Given the description of an element on the screen output the (x, y) to click on. 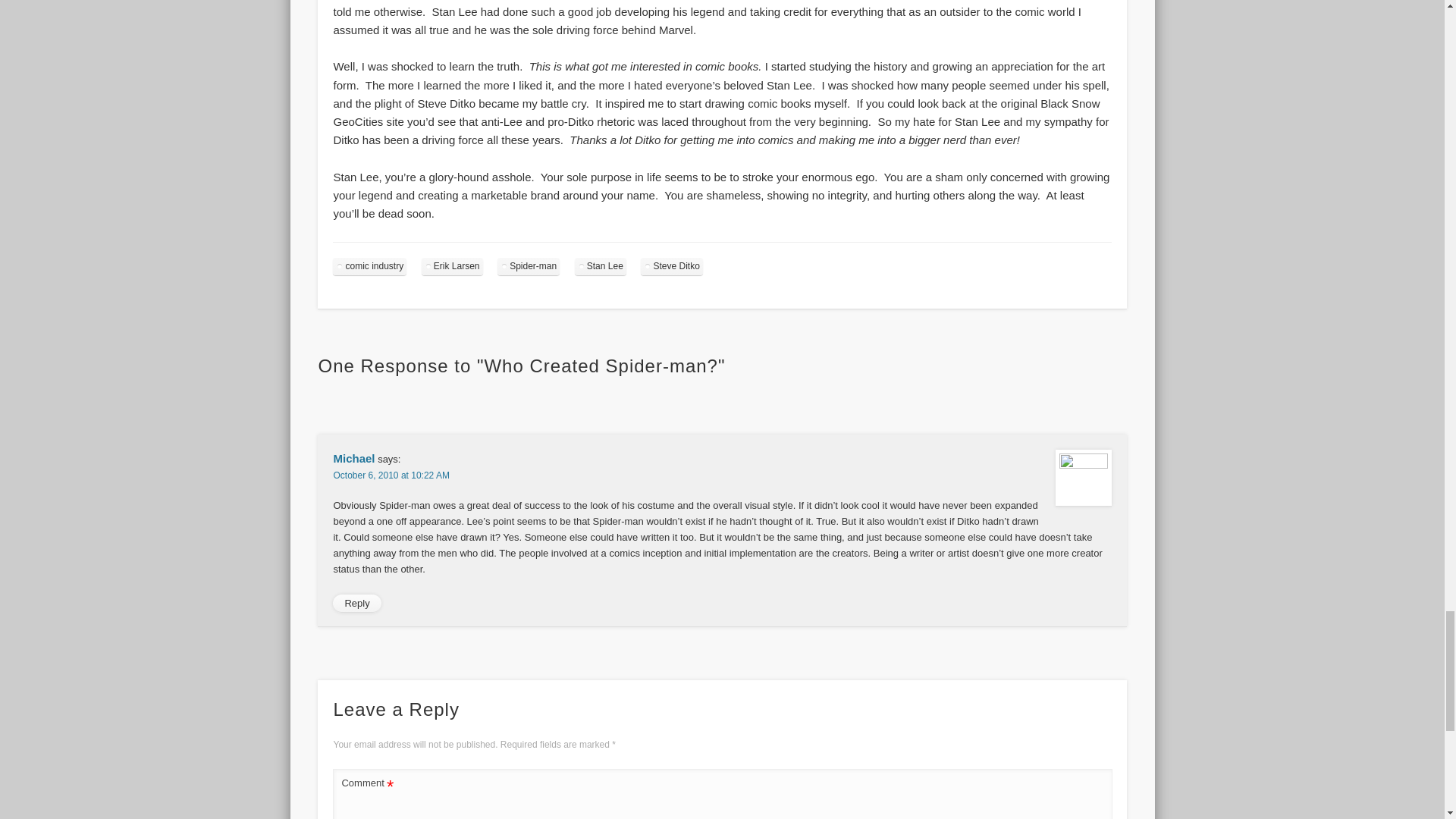
Spider-man (528, 266)
Steve Ditko (670, 266)
Erik Larsen (452, 266)
October 6, 2010 at 10:22 AM (390, 475)
Michael (353, 458)
Stan Lee (600, 266)
Reply (356, 603)
comic industry (369, 266)
